Given the description of an element on the screen output the (x, y) to click on. 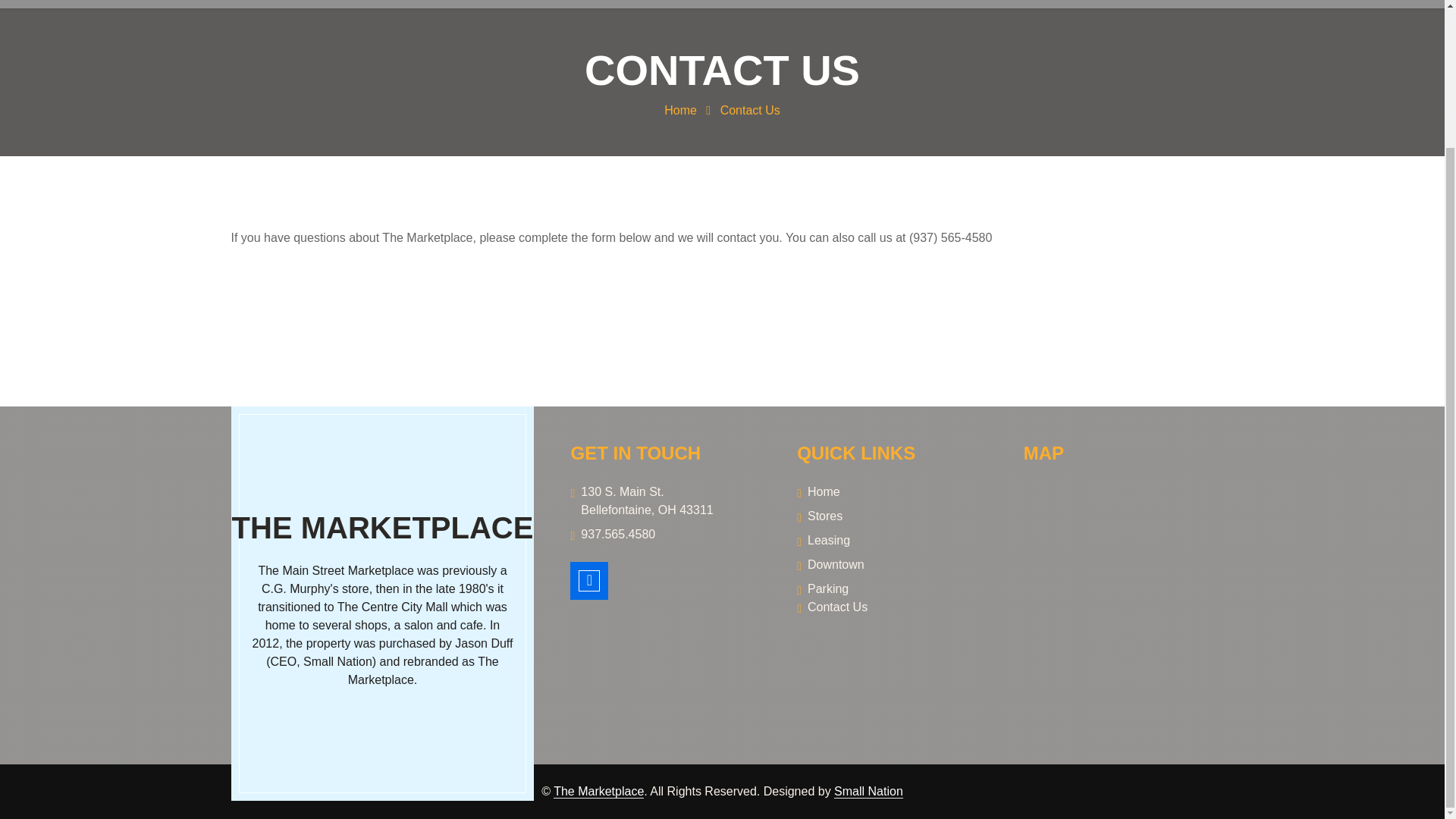
THE MARKETPLACE (376, 527)
PARKING (833, 4)
Parking (891, 588)
HOME (491, 4)
Contact Us (750, 110)
Downtown (891, 565)
STORES (562, 4)
The Marketplace (598, 791)
CONTACT US (929, 4)
Contact Us (891, 607)
